Given the description of an element on the screen output the (x, y) to click on. 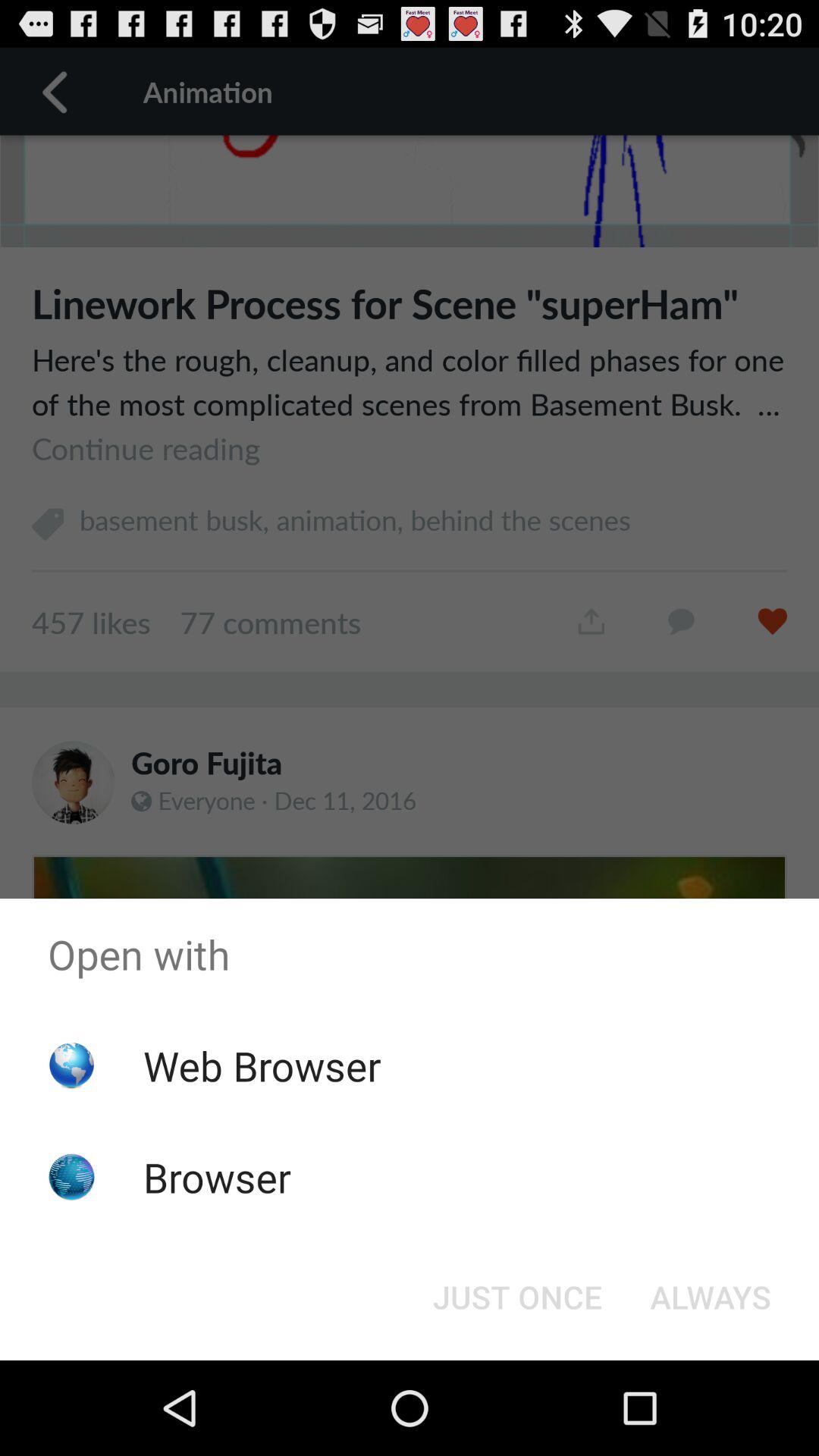
select the icon to the left of the always icon (517, 1296)
